Given the description of an element on the screen output the (x, y) to click on. 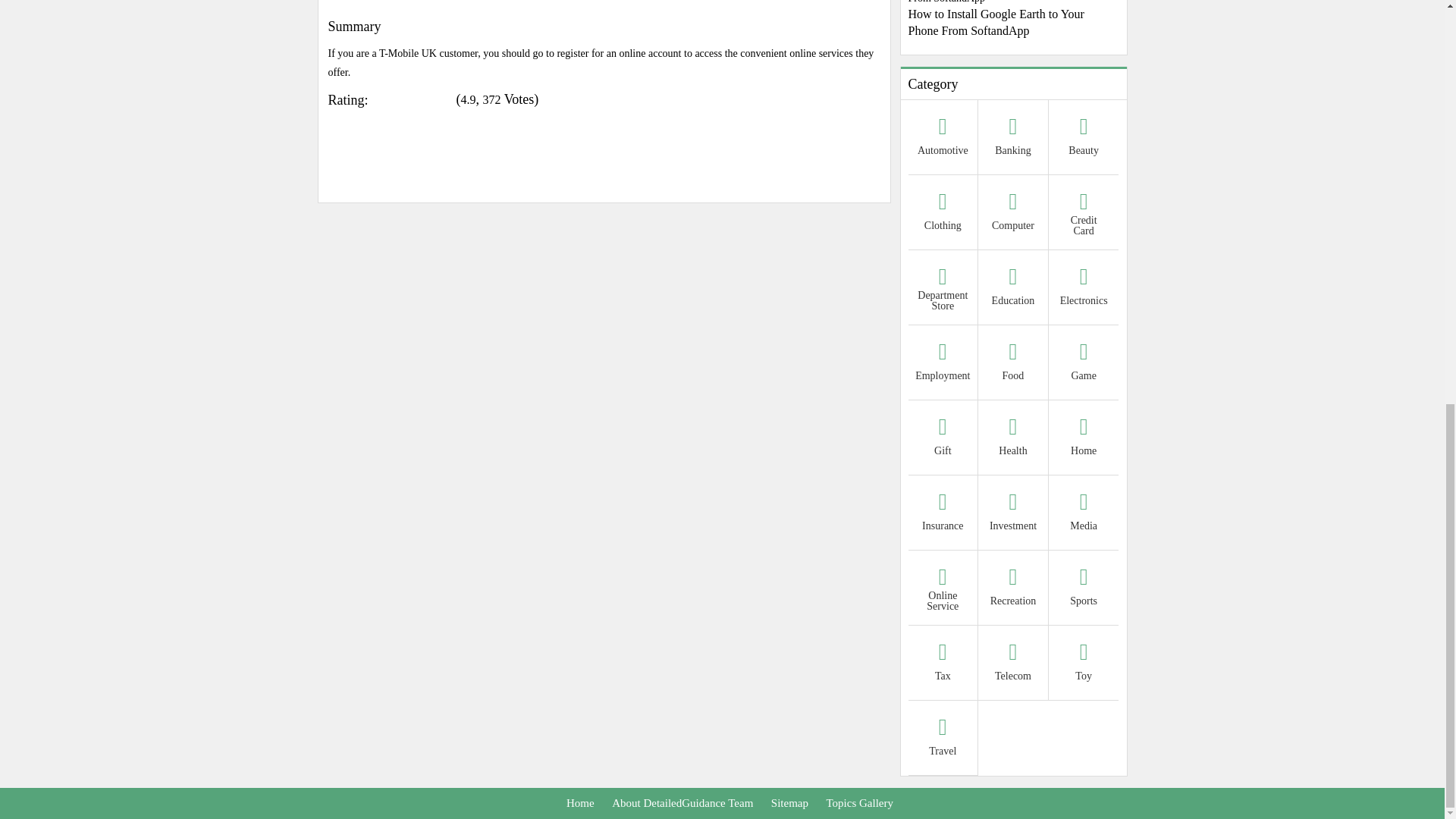
Gift (943, 439)
5 (378, 94)
Credit Card (1083, 214)
4 (378, 94)
Food (1013, 364)
Health (1013, 439)
1 (378, 94)
Department Store (943, 288)
Game (1083, 364)
Automotive (943, 138)
Education (1013, 288)
2 (378, 94)
Insurance (943, 514)
1 (378, 94)
Employment (943, 364)
